Given the description of an element on the screen output the (x, y) to click on. 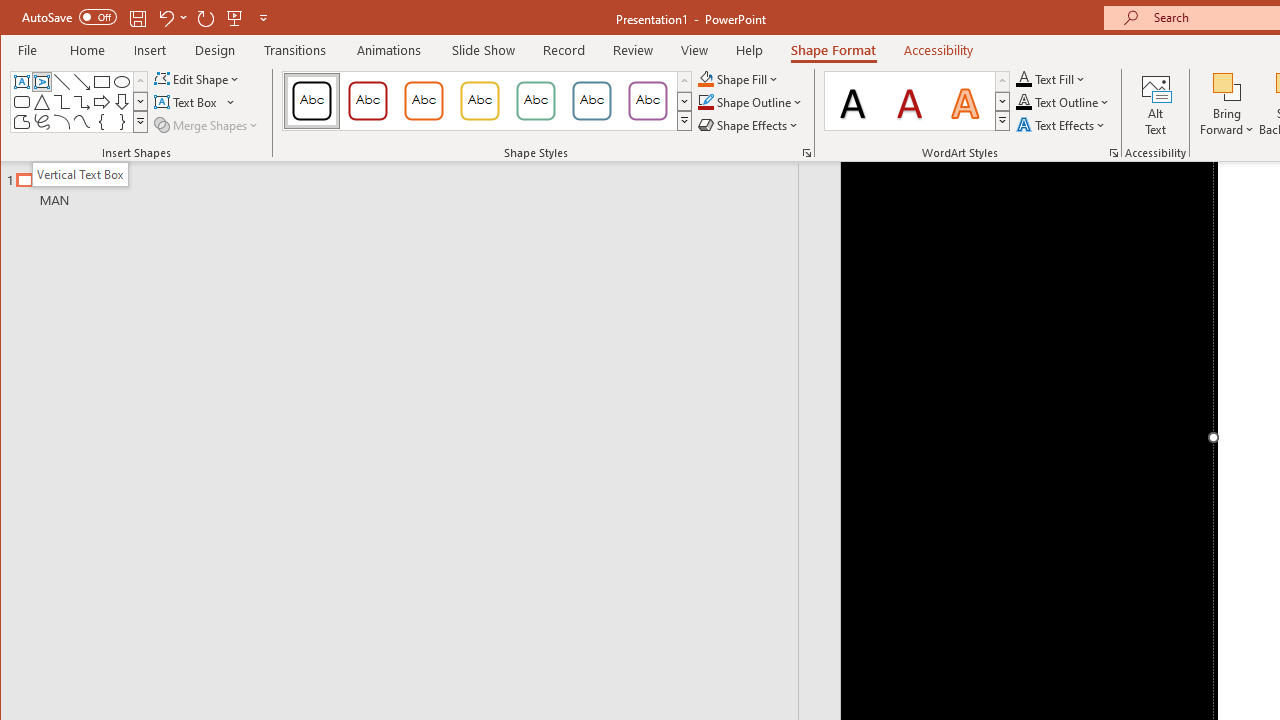
Text Outline RGB(0, 0, 0) (1023, 101)
Bring Forward (1227, 86)
Colored Outline - Orange, Accent 2 (423, 100)
Format Text Effects... (1113, 152)
Edit Shape (198, 78)
